Given the description of an element on the screen output the (x, y) to click on. 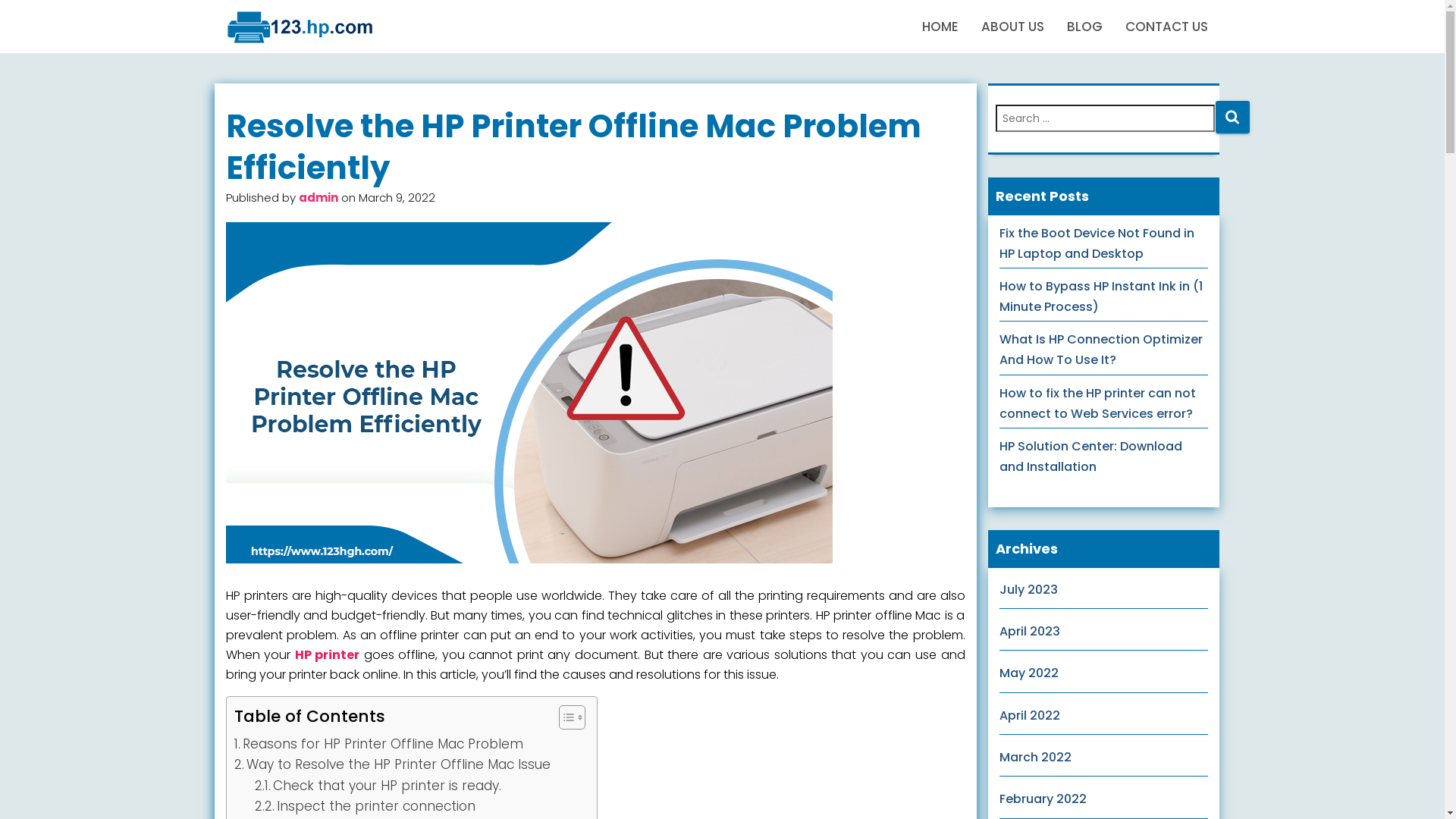
Check that your HP printer is ready. Element type: text (377, 785)
March 2022 Element type: text (1035, 756)
admin Element type: text (318, 197)
Reasons for HP Printer Offline Mac Problem Element type: text (377, 744)
Inspect the printer connection Element type: text (364, 806)
HP printer Element type: text (327, 654)
Fix the Boot Device Not Found in HP Laptop and Desktop Element type: text (1096, 243)
HOME Element type: text (939, 26)
July 2023 Element type: text (1028, 589)
HP Solution Center: Download and Installation Element type: text (1090, 456)
April 2022 Element type: text (1029, 715)
CONTACT US Element type: text (1165, 26)
BLOG Element type: text (1084, 26)
May 2022 Element type: text (1028, 672)
April 2023 Element type: text (1029, 631)
Blog Element type: hover (300, 26)
ABOUT US Element type: text (1011, 26)
How to Bypass HP Instant Ink in (1 Minute Process) Element type: text (1100, 296)
February 2022 Element type: text (1042, 798)
Search Element type: text (1231, 116)
Way to Resolve the HP Printer Offline Mac Issue Element type: text (391, 764)
What Is HP Connection Optimizer And How To Use It? Element type: text (1100, 349)
